Given the description of an element on the screen output the (x, y) to click on. 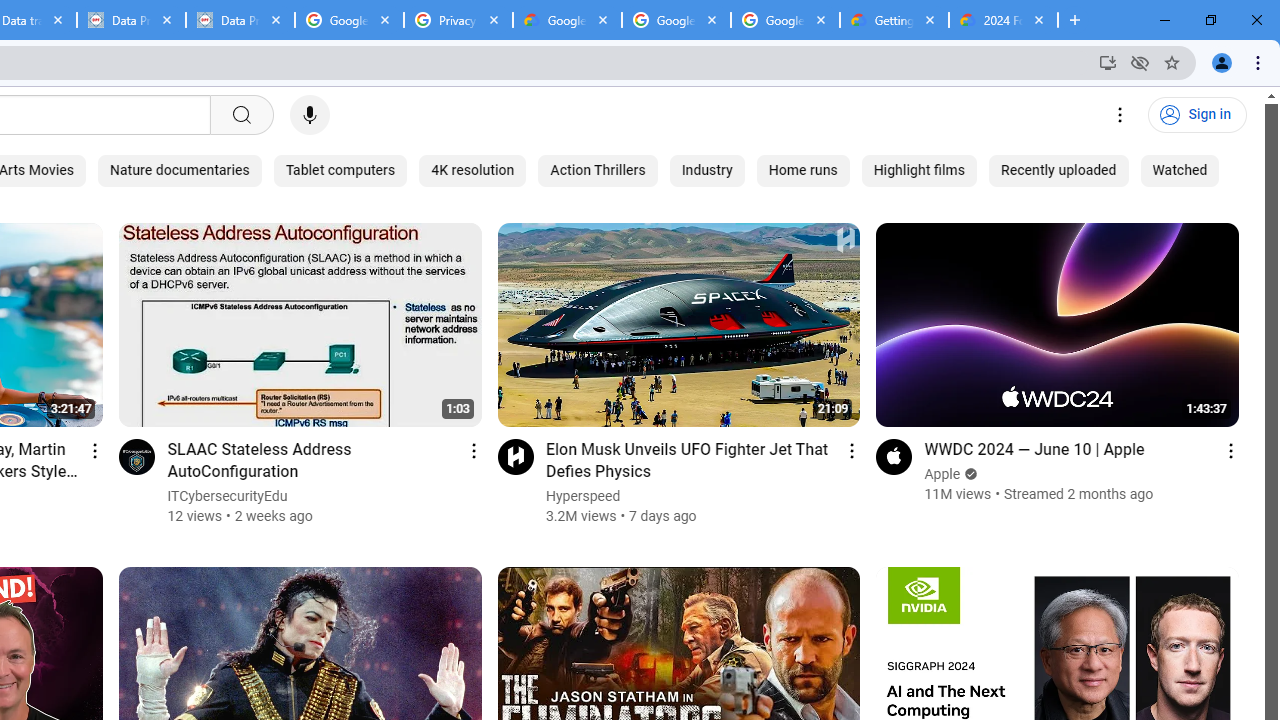
Action Thrillers (597, 170)
Hyperspeed (583, 496)
Highlight films (919, 170)
Data Privacy Framework (240, 20)
Watched (1179, 170)
Industry (706, 170)
Google Workspace - Specific Terms (676, 20)
Verified (969, 474)
